Given the description of an element on the screen output the (x, y) to click on. 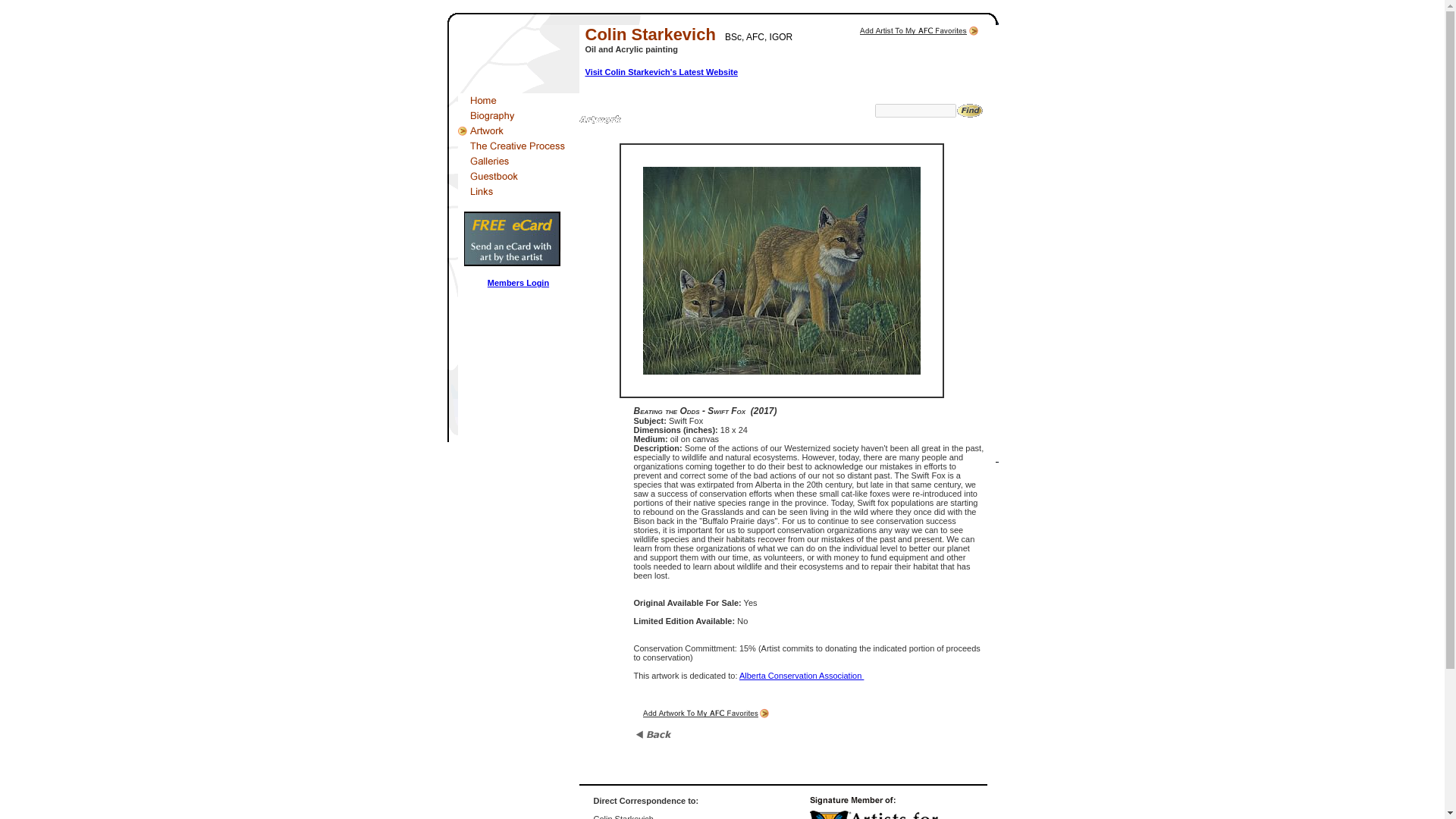
Alberta Conservation Association (801, 675)
Members Login (517, 282)
Visit Colin Starkevich's Latest Website (661, 71)
